Given the description of an element on the screen output the (x, y) to click on. 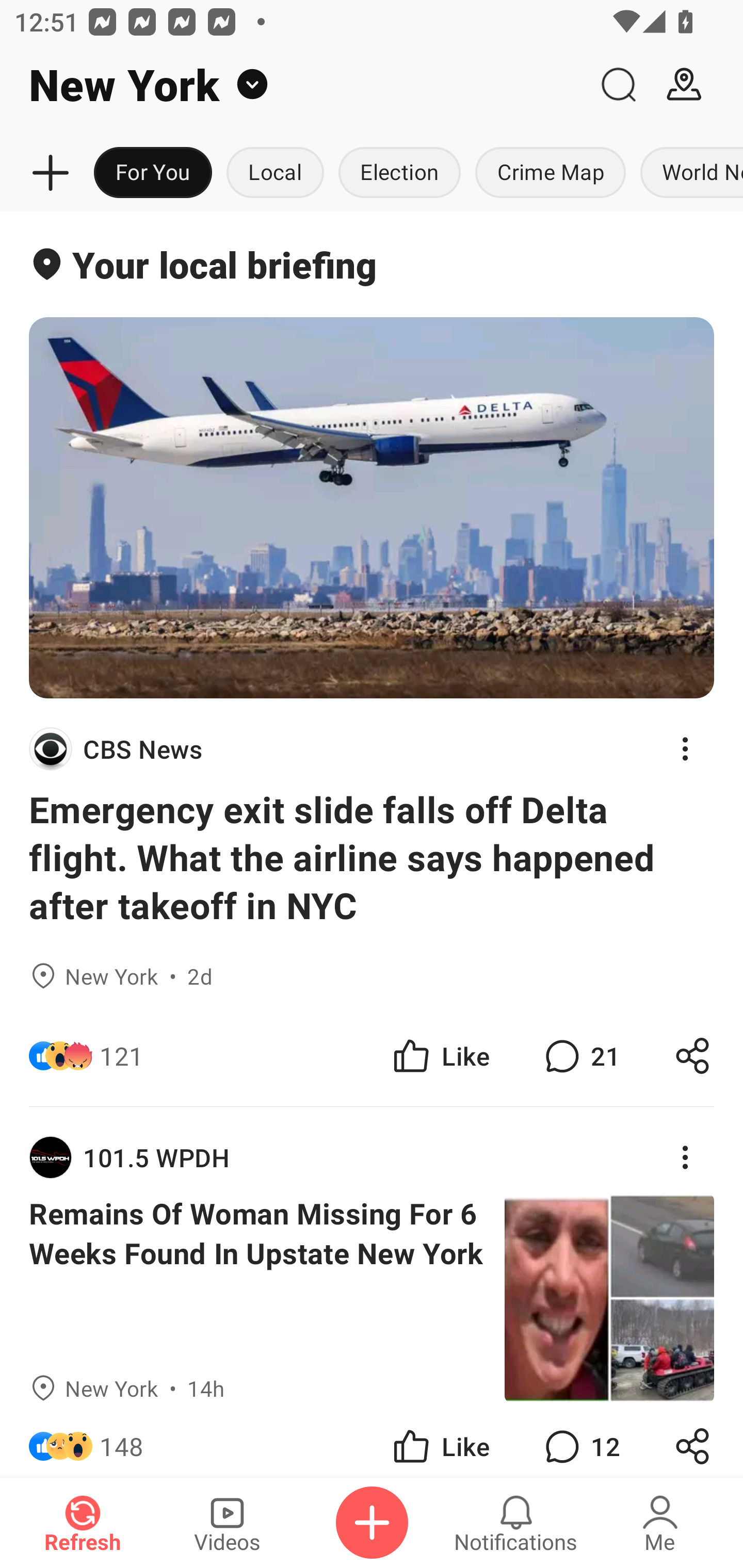
New York (292, 84)
For You (152, 172)
Local (275, 172)
Election (399, 172)
Crime Map (550, 172)
World News (688, 172)
121 (121, 1055)
Like (439, 1055)
21 (579, 1055)
148 (121, 1440)
Like (439, 1440)
12 (579, 1440)
Videos (227, 1522)
Notifications (516, 1522)
Me (659, 1522)
